Given the description of an element on the screen output the (x, y) to click on. 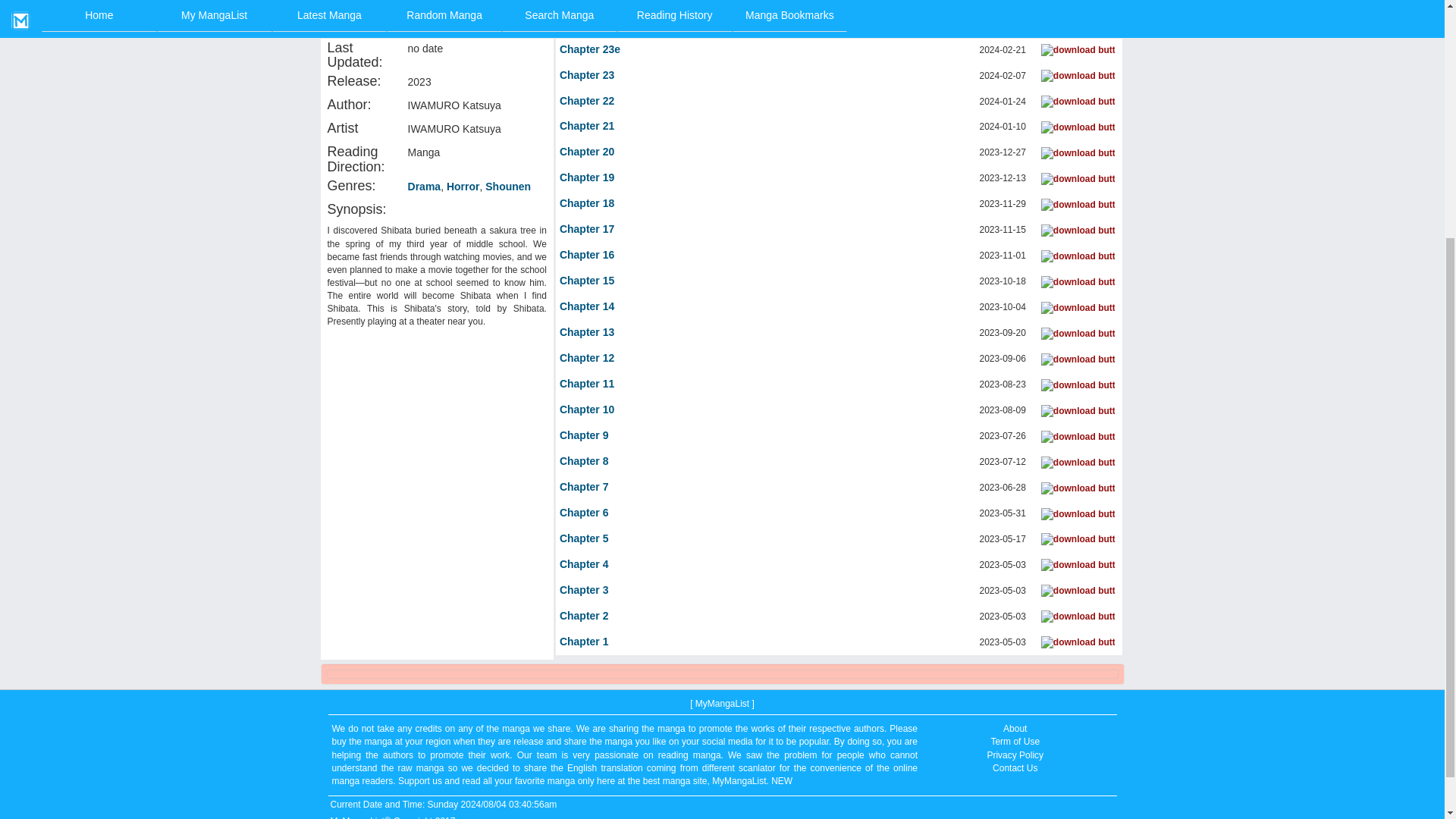
Chapter 23e (589, 49)
Chapter 22 (586, 101)
Chapter 21 (586, 126)
Chapter 24 (586, 23)
Chapter 25 (586, 2)
Shibatarian (437, 2)
Drama (424, 186)
Horror (463, 186)
Shounen (507, 186)
Chapter 23 (586, 75)
